Given the description of an element on the screen output the (x, y) to click on. 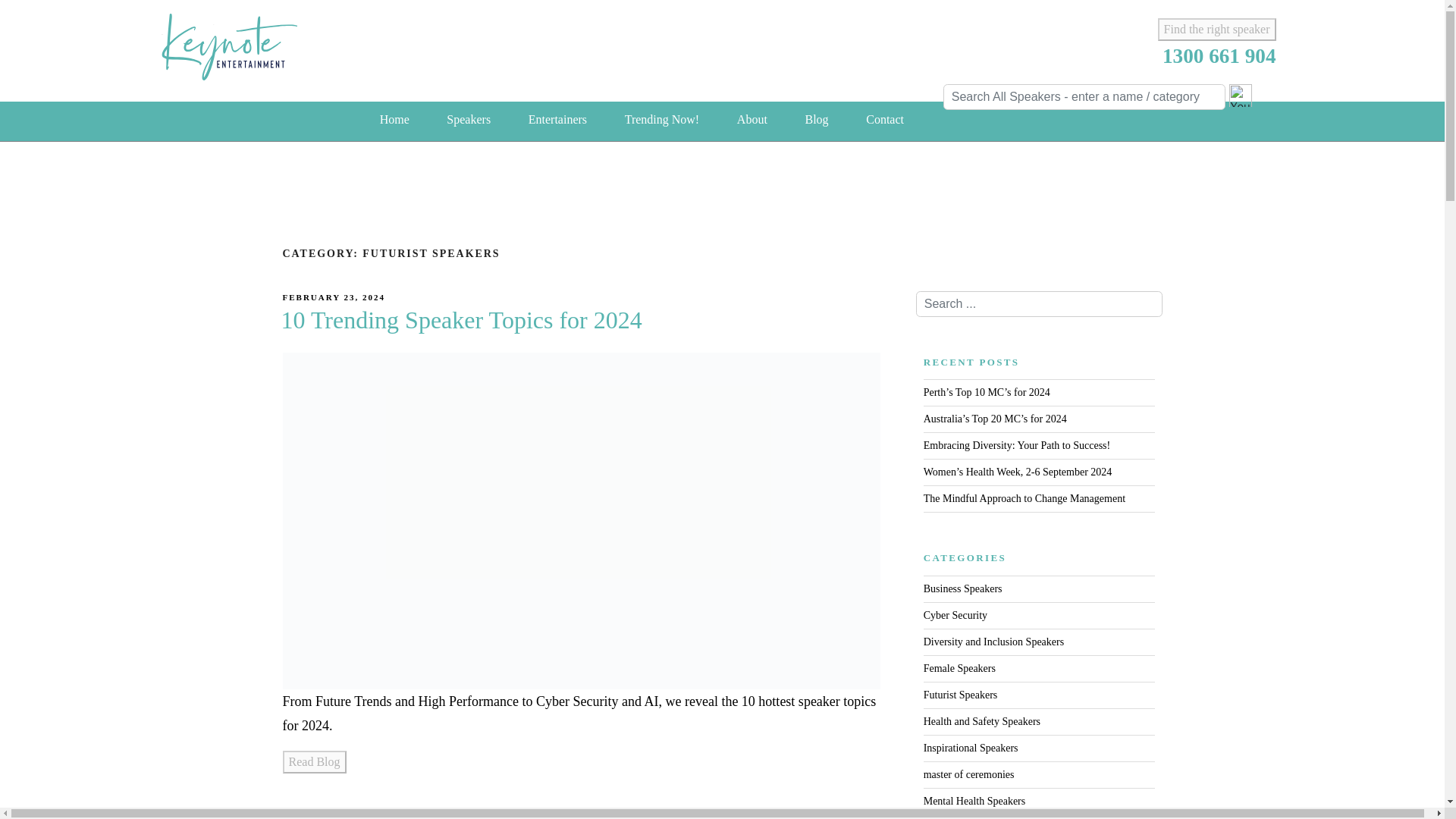
1300 661 904 (1218, 56)
About (752, 119)
Entertainers (557, 119)
Speakers (467, 119)
Find the right speaker (1216, 29)
10 Trending Speaker Topics for 2024  (464, 319)
Embracing Diversity: Your Path to Success! (1016, 445)
Trending Now! (662, 119)
Your Enquiry List (1239, 95)
Read Blog (314, 761)
Home (395, 119)
Read Blog (314, 762)
Blog (816, 119)
Contact (884, 119)
FEBRUARY 23, 2024 (333, 297)
